Given the description of an element on the screen output the (x, y) to click on. 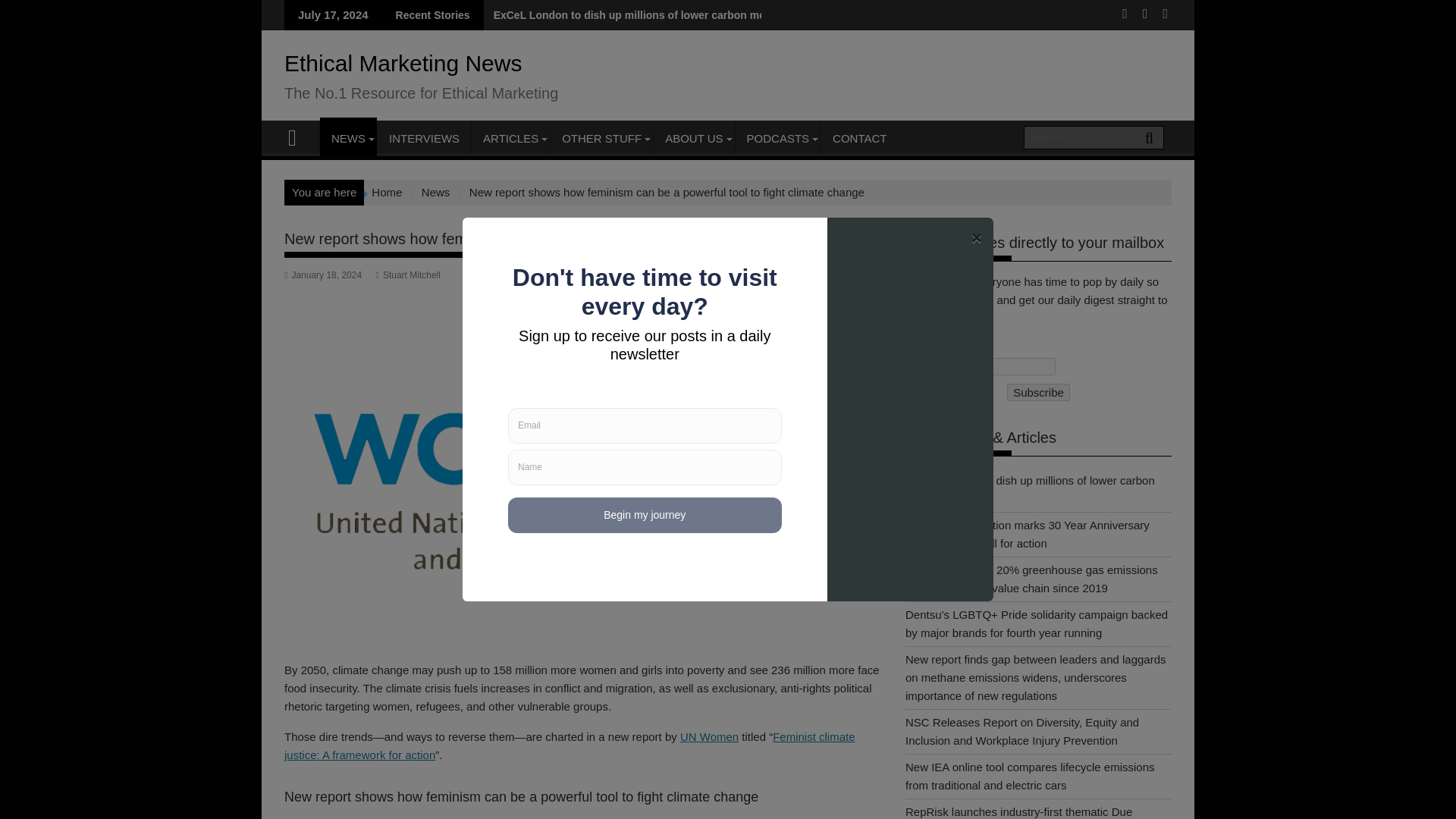
NEWS (348, 138)
CONTACT (859, 138)
Ethical Marketing News (402, 63)
ABOUT US (693, 138)
ExCeL London to dish up millions of lower carbon meals (631, 15)
INTERVIEWS (423, 138)
Ethical Marketing News (298, 136)
ExCeL London to dish up millions of lower carbon meals (631, 15)
PODCASTS (778, 138)
ARTICLES (510, 138)
Subscribe (1038, 392)
OTHER STUFF (601, 138)
